Given the description of an element on the screen output the (x, y) to click on. 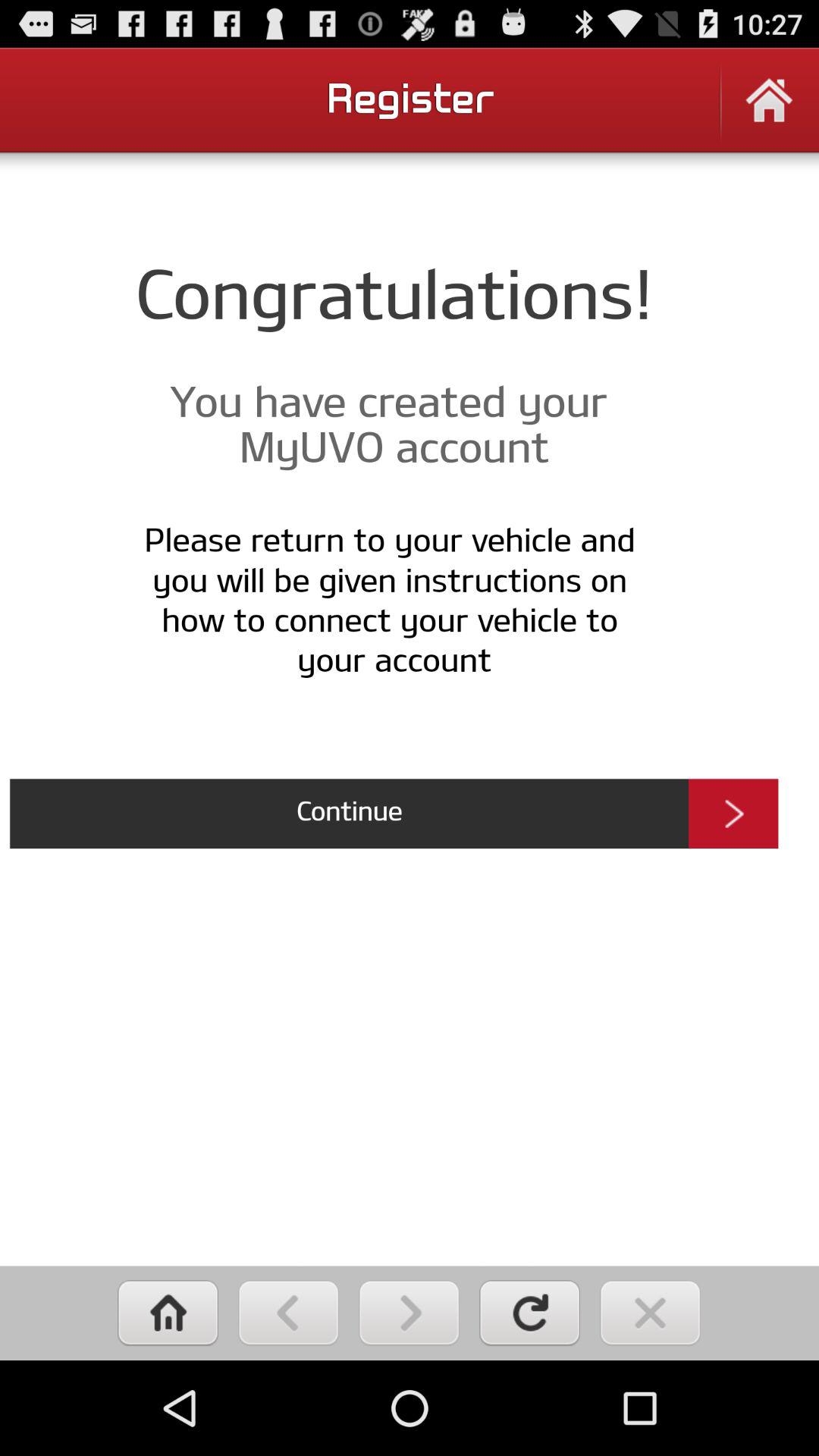
home button (167, 1313)
